Given the description of an element on the screen output the (x, y) to click on. 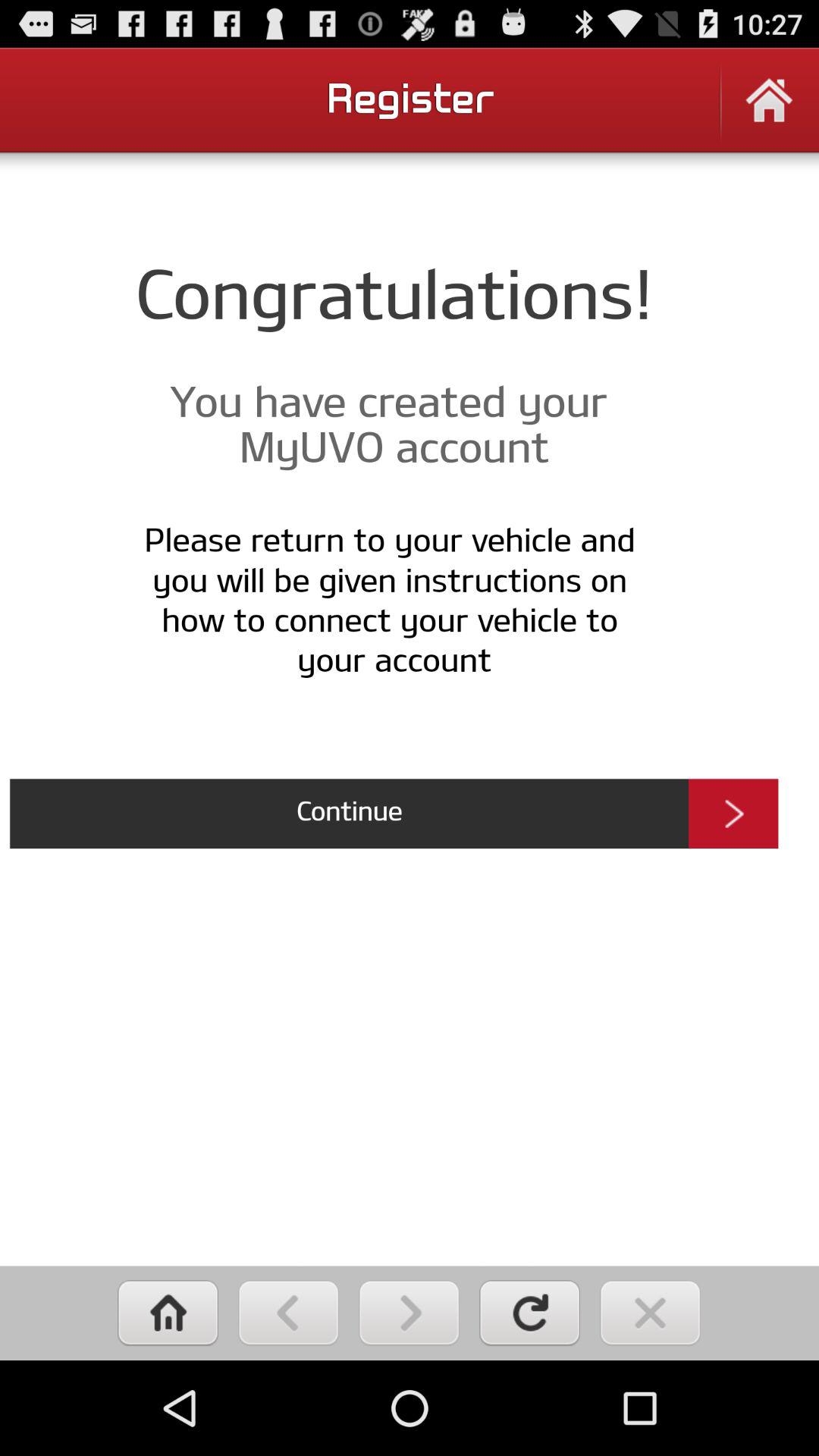
home button (167, 1313)
